Given the description of an element on the screen output the (x, y) to click on. 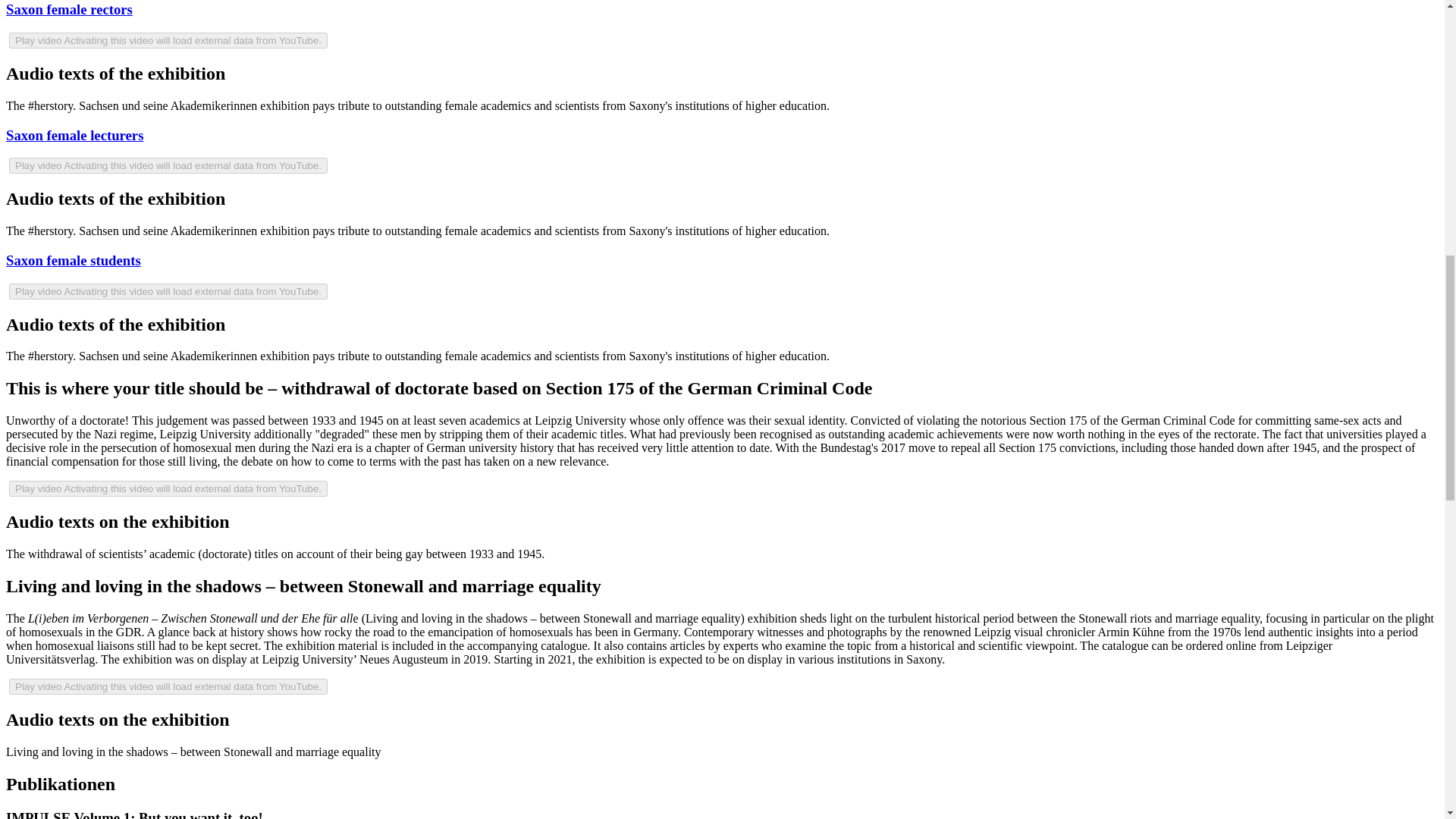
Saxon female students (73, 260)
Saxon female lecturers (73, 135)
Saxon female rectors (68, 9)
